Given the description of an element on the screen output the (x, y) to click on. 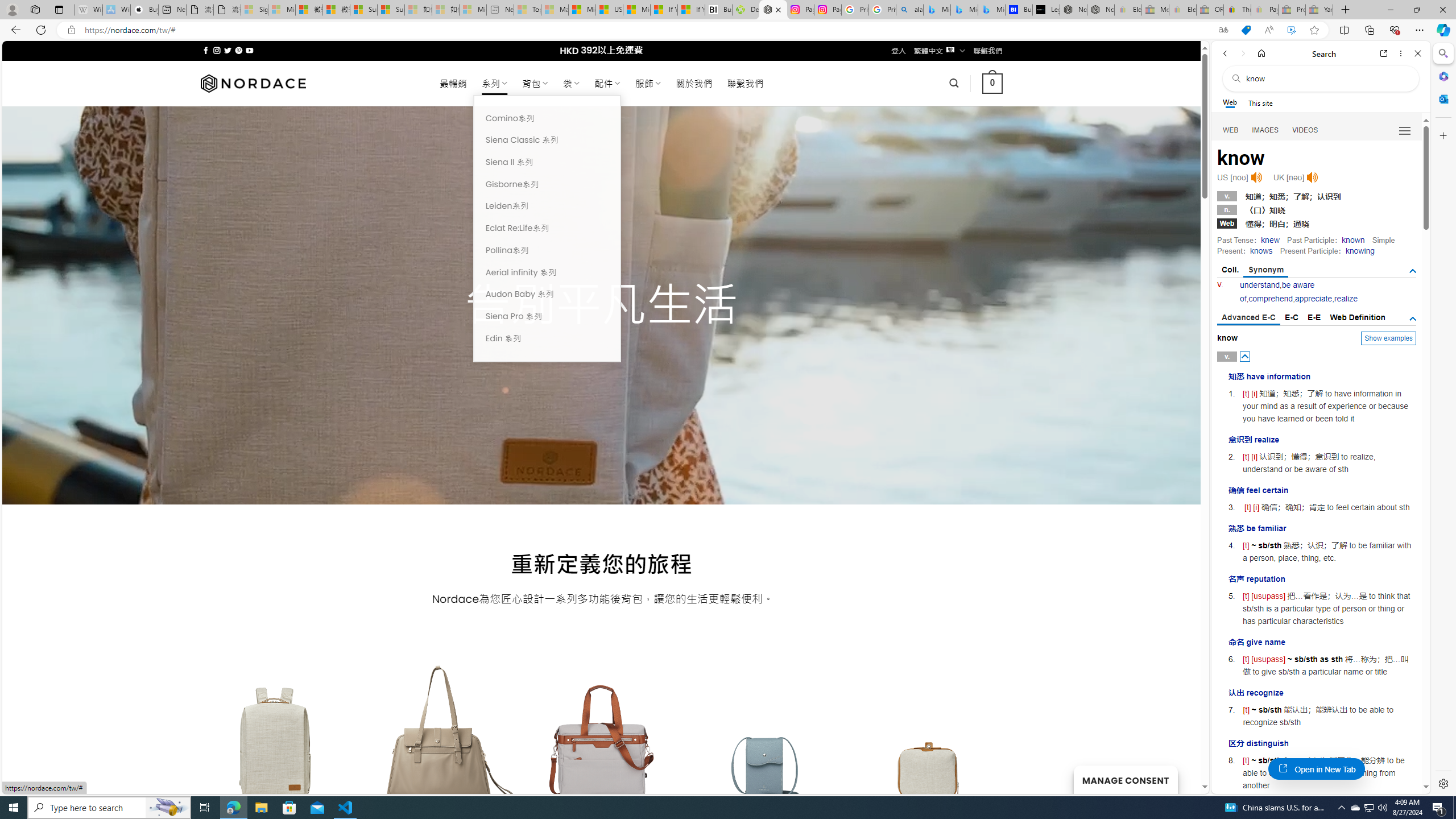
Synonym (1265, 270)
Follow on Facebook (205, 50)
Marine life - MSN - Sleeping (554, 9)
E-C (1291, 317)
Search Filter, VIDEOS (1304, 129)
